Given the description of an element on the screen output the (x, y) to click on. 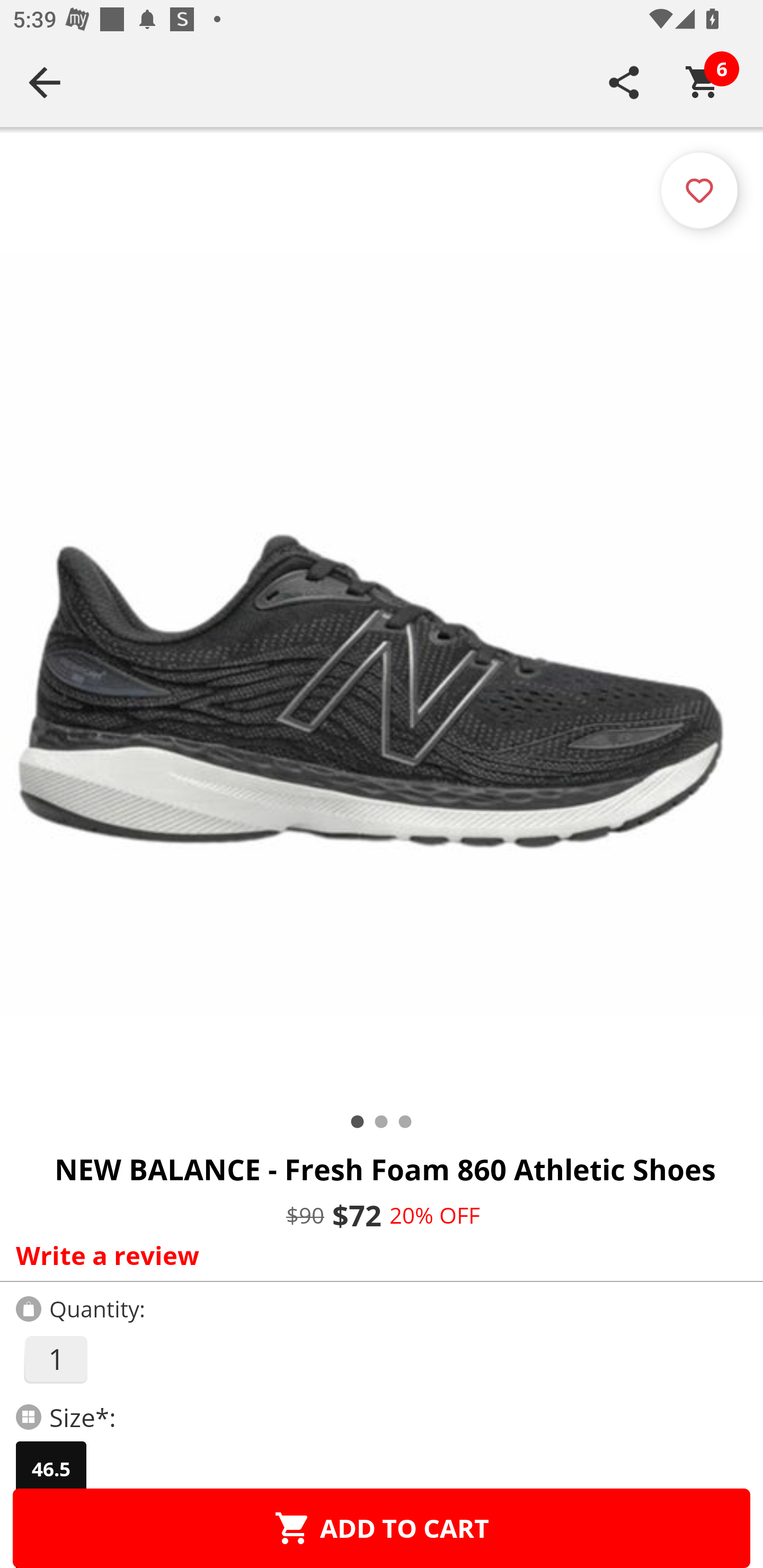
Navigate up (44, 82)
SHARE (623, 82)
Cart (703, 81)
Write a review (377, 1255)
1 (55, 1358)
46.5 (51, 1468)
ADD TO CART (381, 1528)
